Given the description of an element on the screen output the (x, y) to click on. 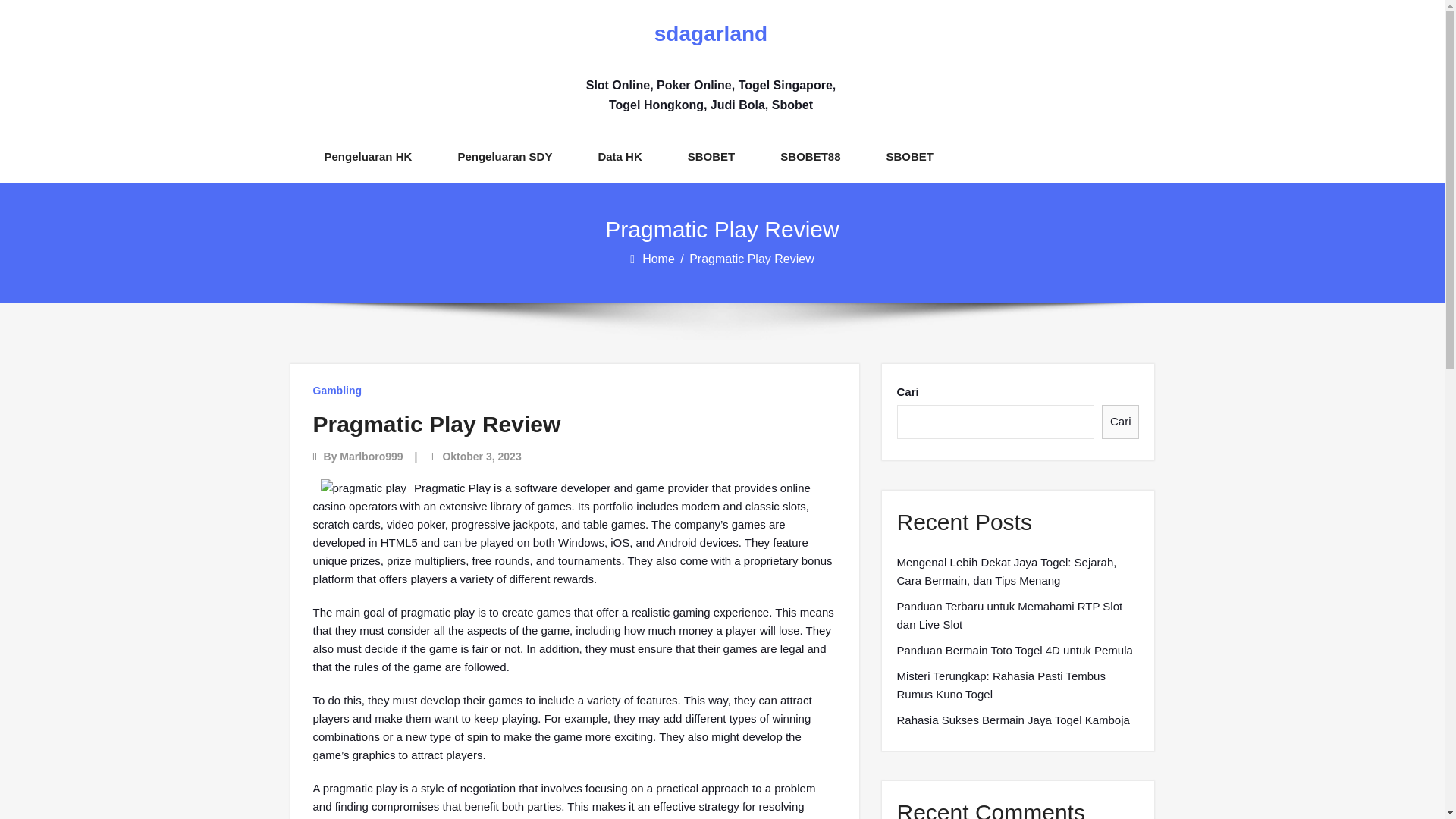
SBOBET (711, 156)
Oktober 3, 2023 (481, 456)
Misteri Terungkap: Rahasia Pasti Tembus Rumus Kuno Togel (1017, 685)
sdagarland (710, 34)
Pengeluaran SDY (504, 156)
SBOBET88 (810, 156)
Panduan Bermain Toto Togel 4D untuk Pemula (1014, 650)
Rahasia Sukses Bermain Jaya Togel Kamboja (1012, 720)
Panduan Terbaru untuk Memahami RTP Slot dan Live Slot (1017, 615)
